Given the description of an element on the screen output the (x, y) to click on. 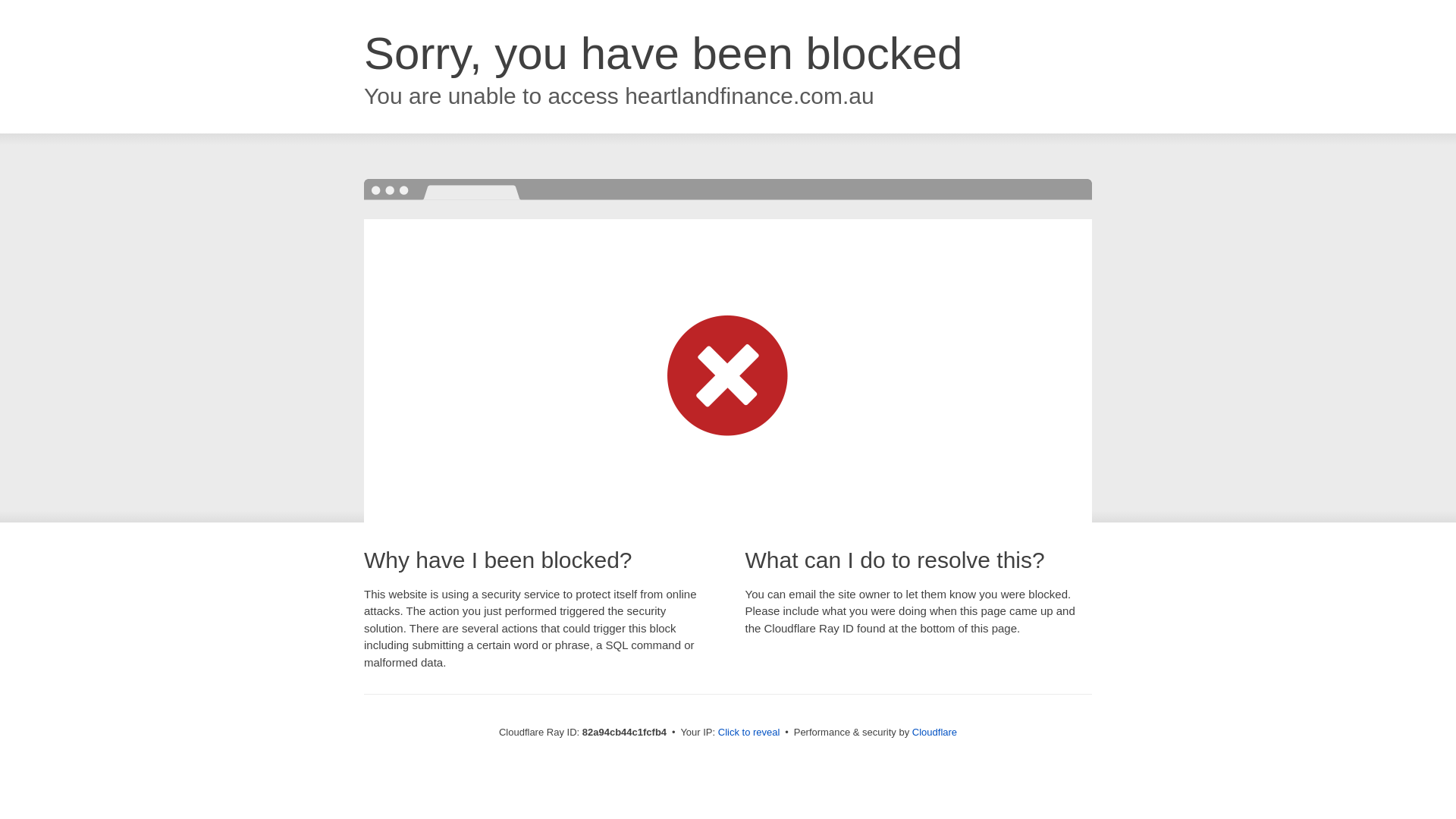
Cloudflare Element type: text (934, 731)
Click to reveal Element type: text (749, 732)
